Given the description of an element on the screen output the (x, y) to click on. 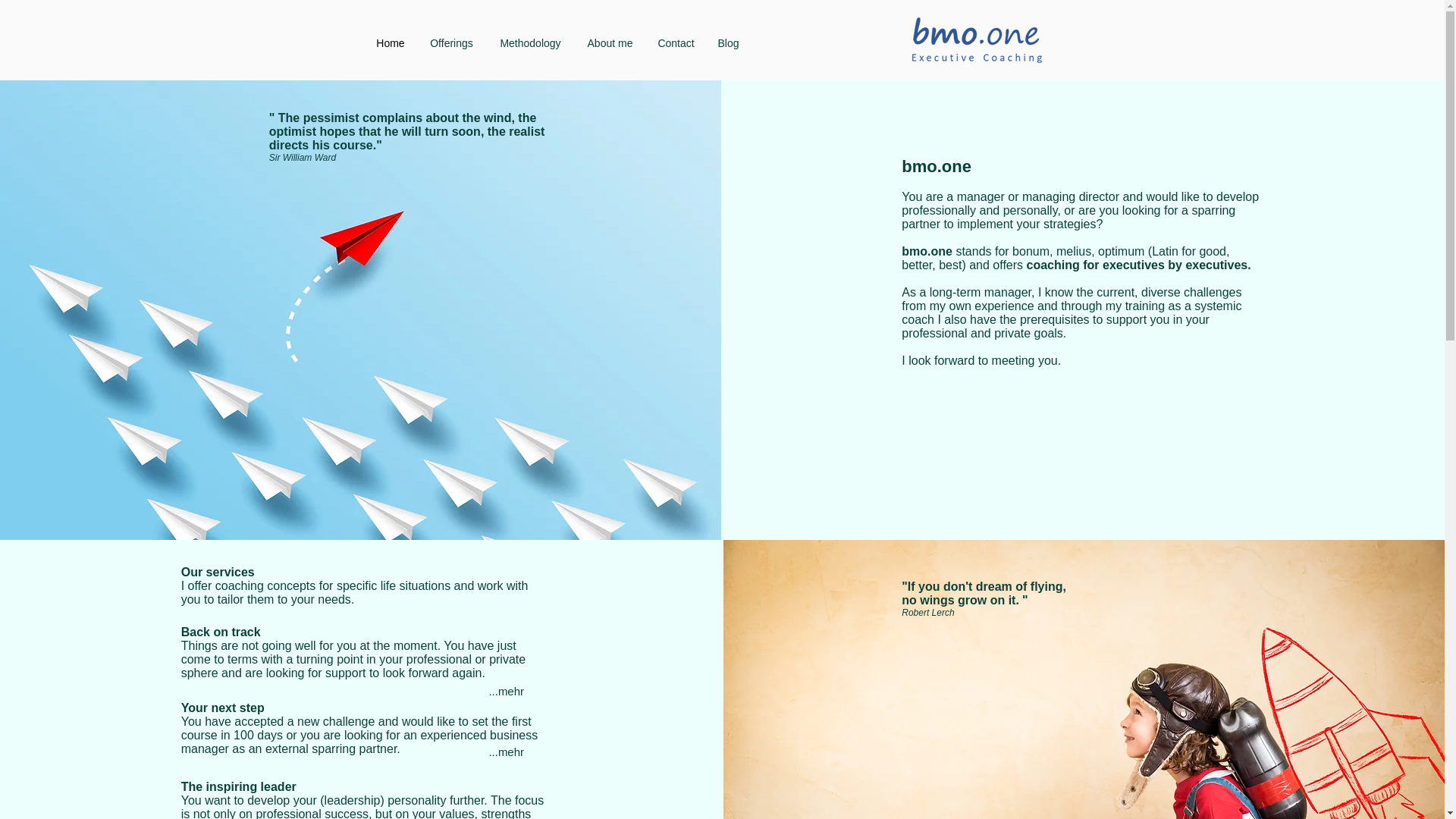
Contact (676, 42)
Methodology (530, 42)
Blog (728, 42)
Offerings (451, 42)
...mehr (506, 691)
...mehr (506, 752)
Home (390, 42)
About me (610, 42)
